Given the description of an element on the screen output the (x, y) to click on. 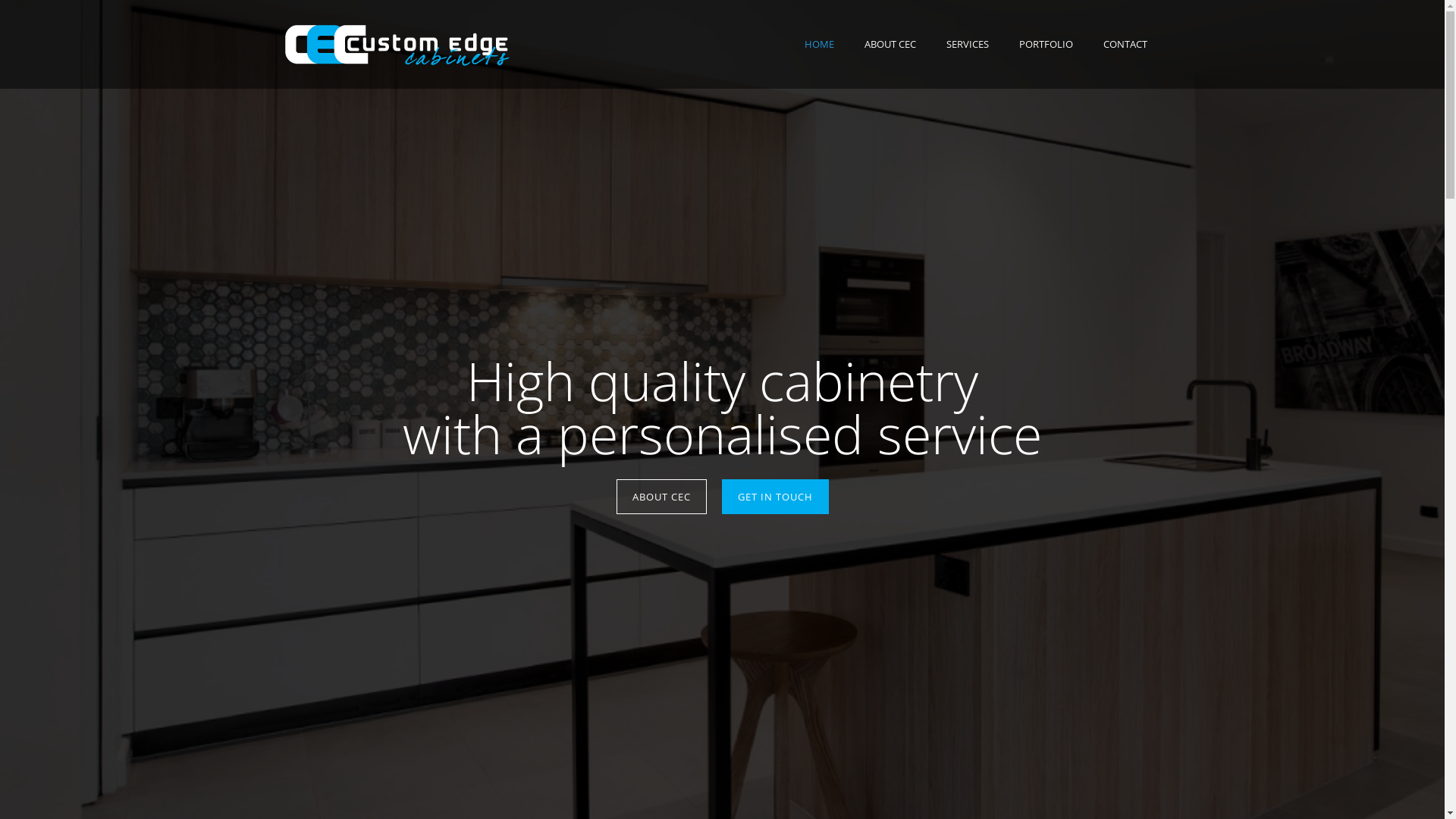
ABOUT CEC Element type: text (890, 43)
PORTFOLIO Element type: text (1046, 43)
CONTACT Element type: text (1124, 43)
GET IN TOUCH Element type: text (774, 496)
ABOUT CEC Element type: text (660, 496)
SERVICES Element type: text (967, 43)
HOME Element type: text (818, 43)
